Given the description of an element on the screen output the (x, y) to click on. 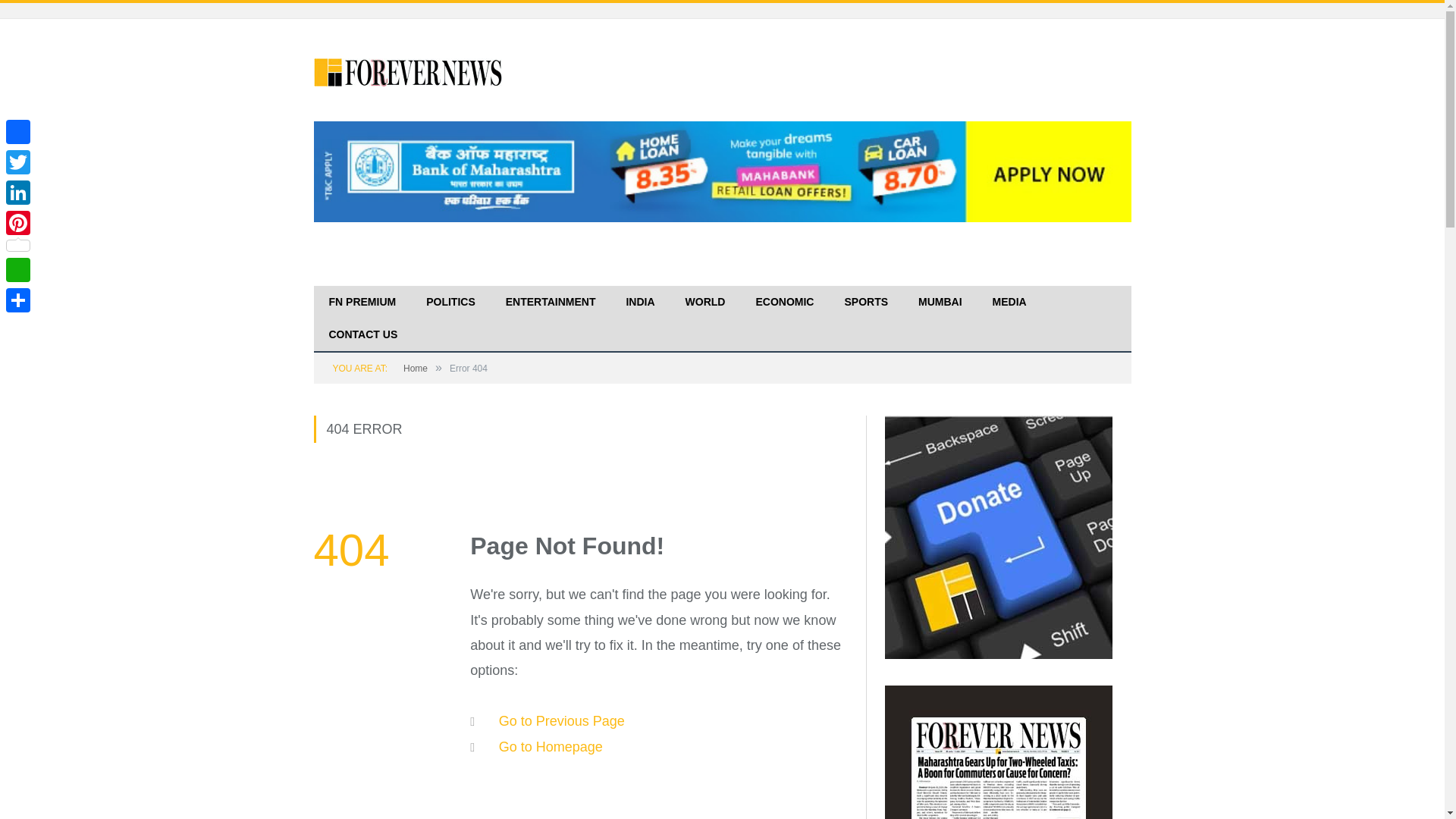
POLITICS (450, 302)
Go to Previous Page (561, 720)
ECONOMIC (783, 302)
FN PREMIUM (363, 302)
Forever NEWS (408, 69)
SPORTS (865, 302)
Go to Homepage (550, 746)
WORLD (705, 302)
MUMBAI (939, 302)
ENTERTAINMENT (550, 302)
MEDIA (1009, 302)
CONTACT US (363, 335)
Home (415, 368)
INDIA (639, 302)
